Given the description of an element on the screen output the (x, y) to click on. 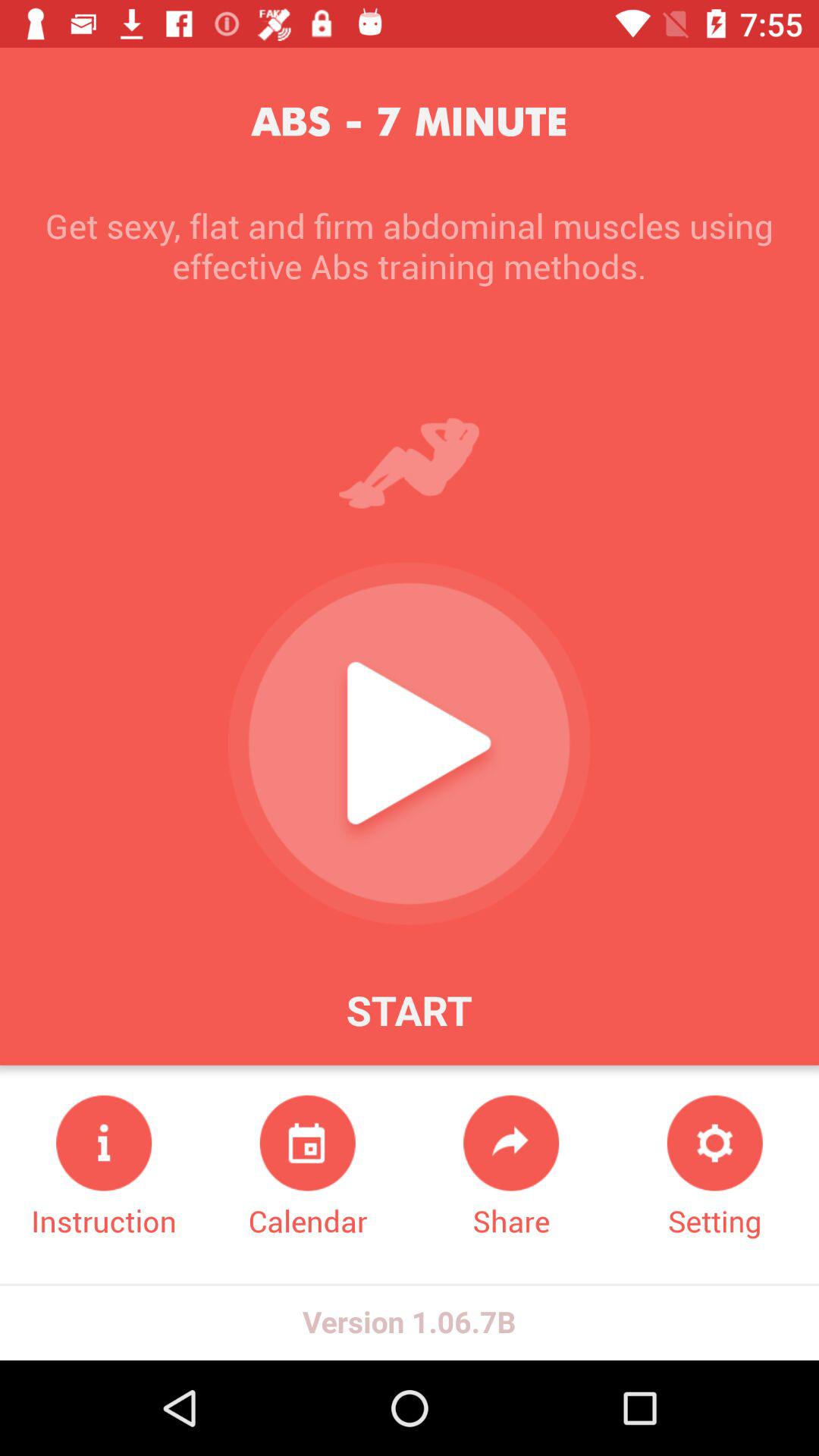
turn off icon to the left of share item (307, 1168)
